Given the description of an element on the screen output the (x, y) to click on. 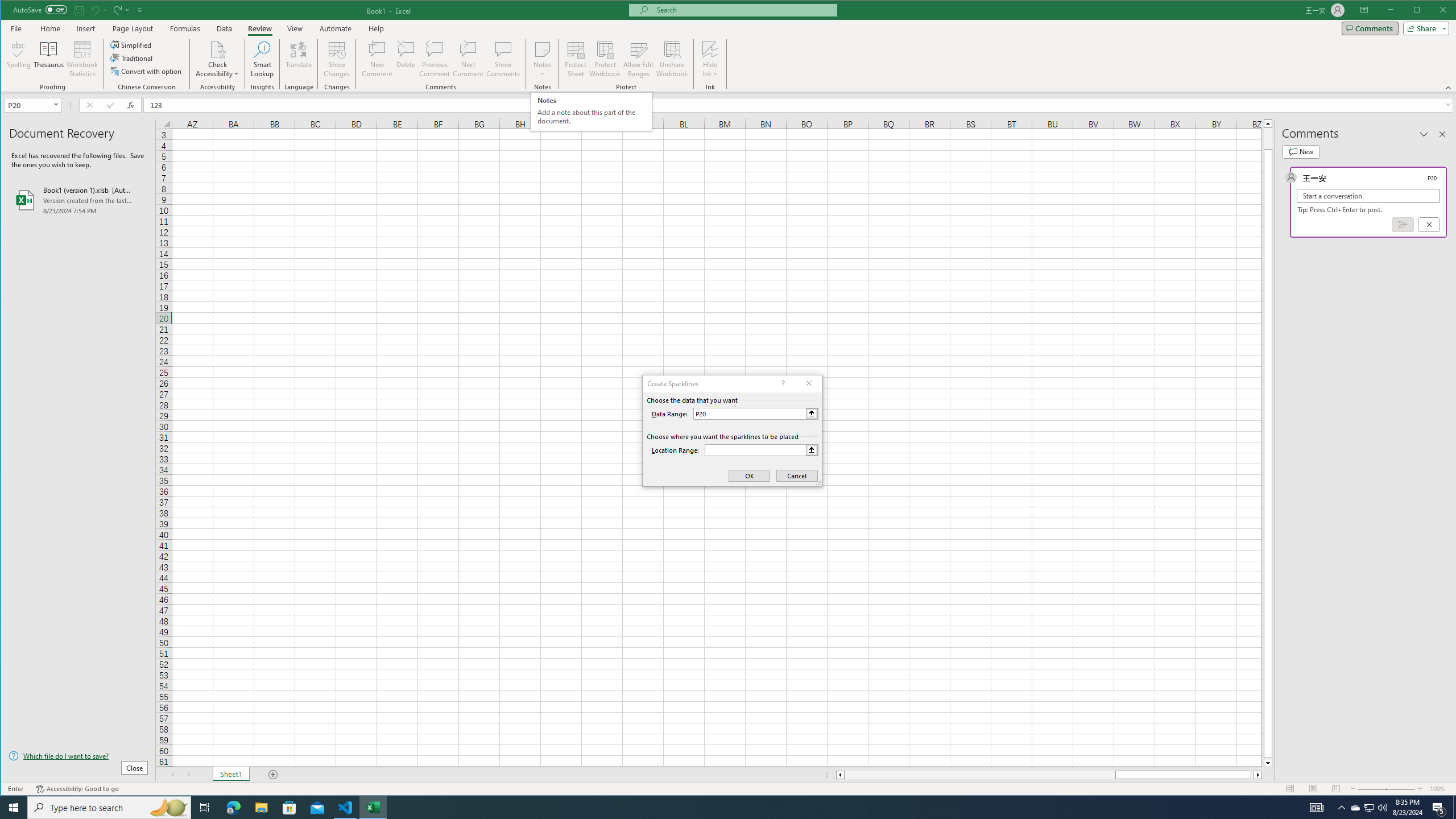
Show Changes (335, 59)
Notes (541, 59)
Add Sheet (272, 774)
Automate (336, 28)
Minimize (1419, 11)
Translate (298, 59)
Insert (85, 28)
Collapse the Ribbon (1448, 87)
Accessibility Checker Accessibility: Good to go (77, 788)
Data (224, 28)
Close pane (1441, 133)
Quick Access Toolbar (79, 9)
AutoSave (39, 9)
Sheet1 (230, 774)
